Given the description of an element on the screen output the (x, y) to click on. 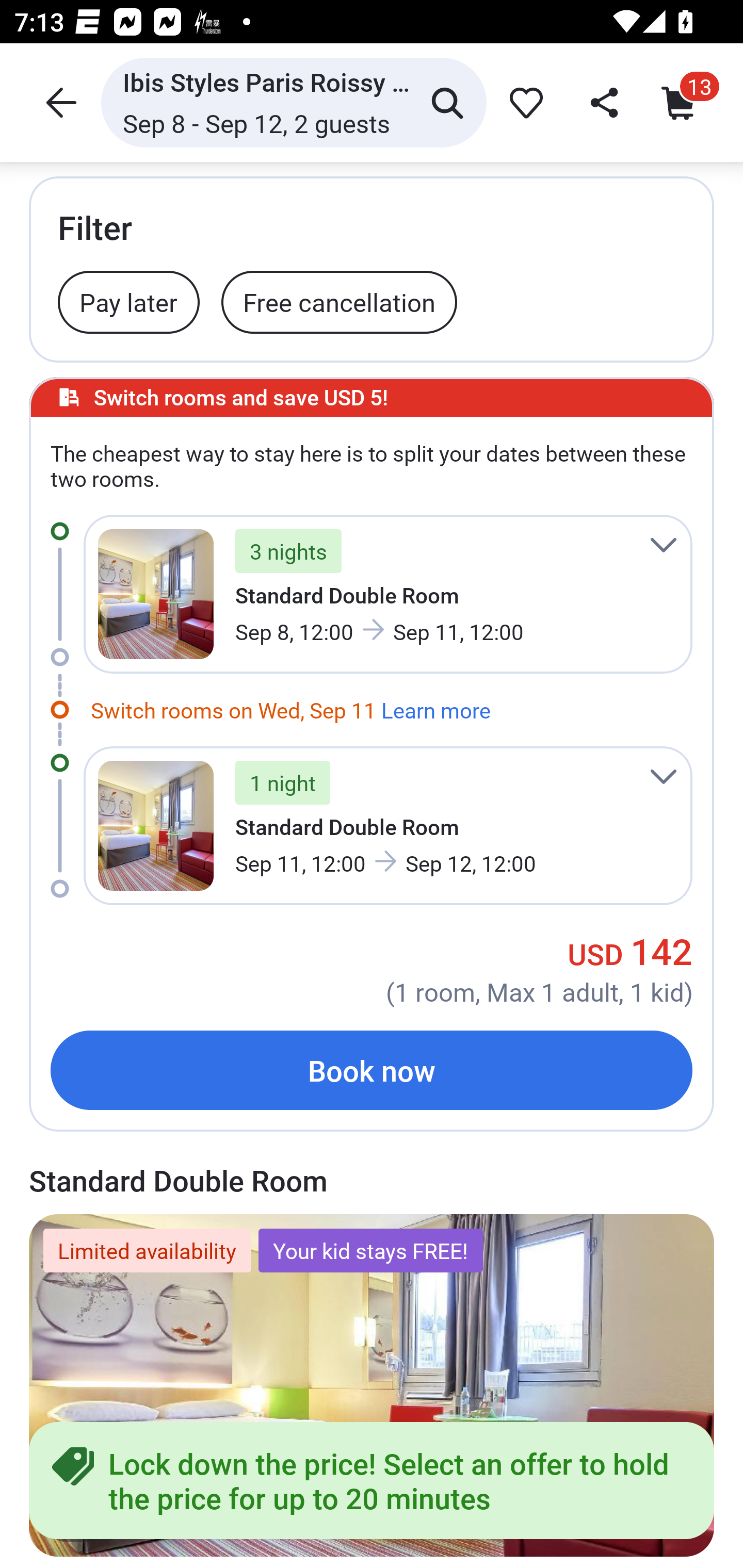
header icon (59, 102)
favorite_icon 0dbe6efb (522, 102)
share_header_icon (601, 102)
Cart icon cart_item_count 13 (683, 102)
Pay later (128, 301)
Free cancellation (338, 301)
Switch rooms on Wed, Sep 11 Learn more (290, 706)
Book now (371, 1070)
